Given the description of an element on the screen output the (x, y) to click on. 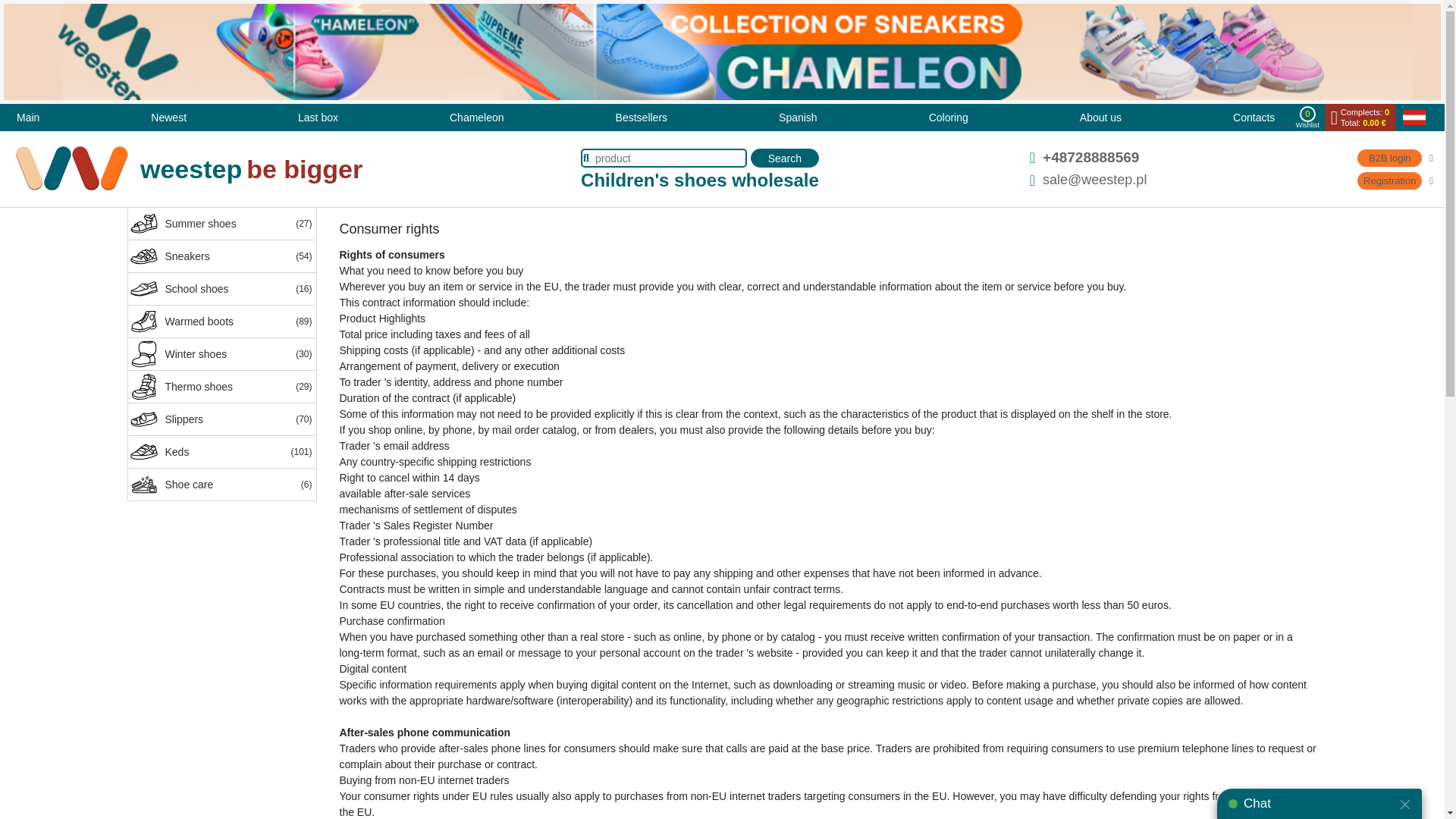
Search (784, 157)
Search (784, 157)
Spanish (797, 117)
About us (1100, 117)
Last box (317, 117)
B2B login (1394, 158)
Chameleon (476, 117)
Main (28, 117)
B2B login (1394, 158)
Email (1094, 180)
